Given the description of an element on the screen output the (x, y) to click on. 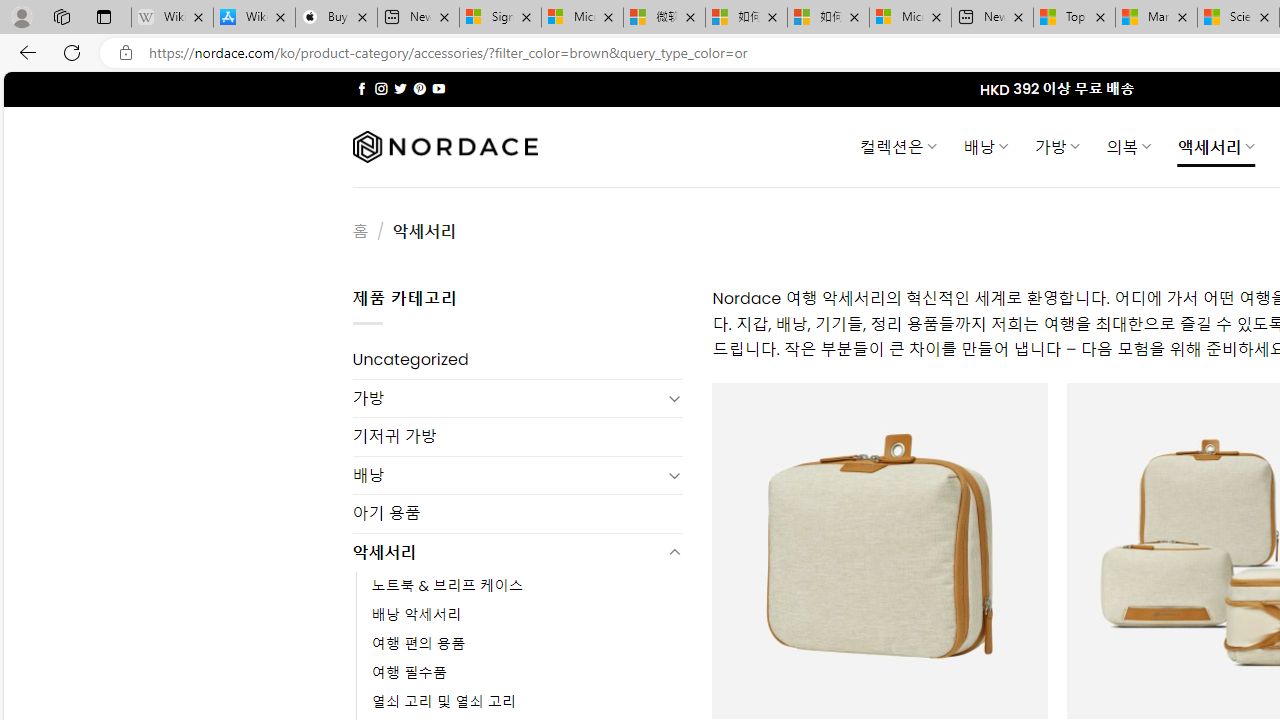
Follow on Pinterest (419, 88)
Uncategorized (517, 359)
